Given the description of an element on the screen output the (x, y) to click on. 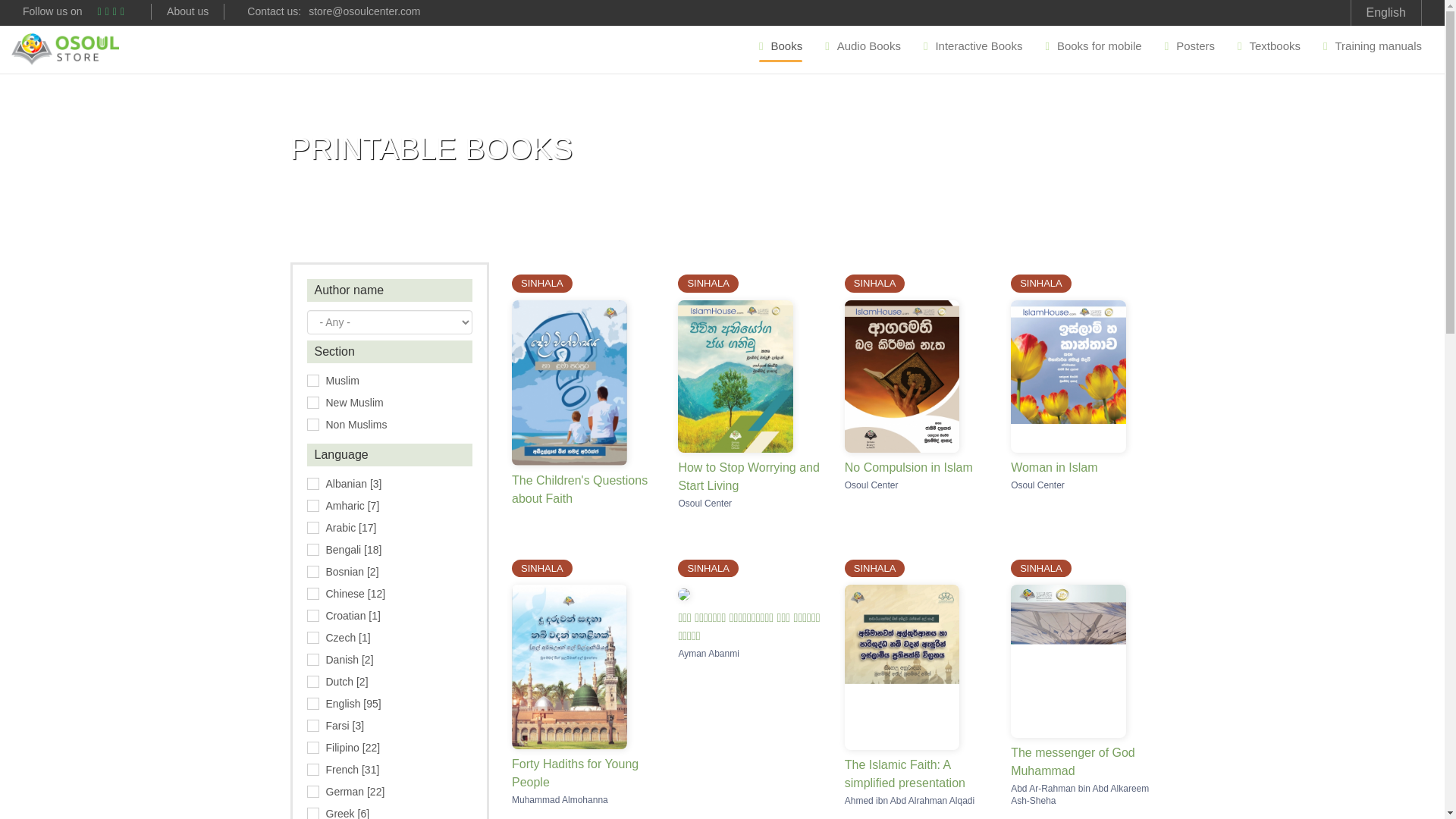
Home (65, 49)
Books (780, 50)
Textbooks (1268, 49)
Interactive Books (972, 49)
Training manuals (1371, 49)
About us (187, 11)
English (1386, 12)
Books for mobile (1093, 49)
Audio Books (862, 49)
